Given the description of an element on the screen output the (x, y) to click on. 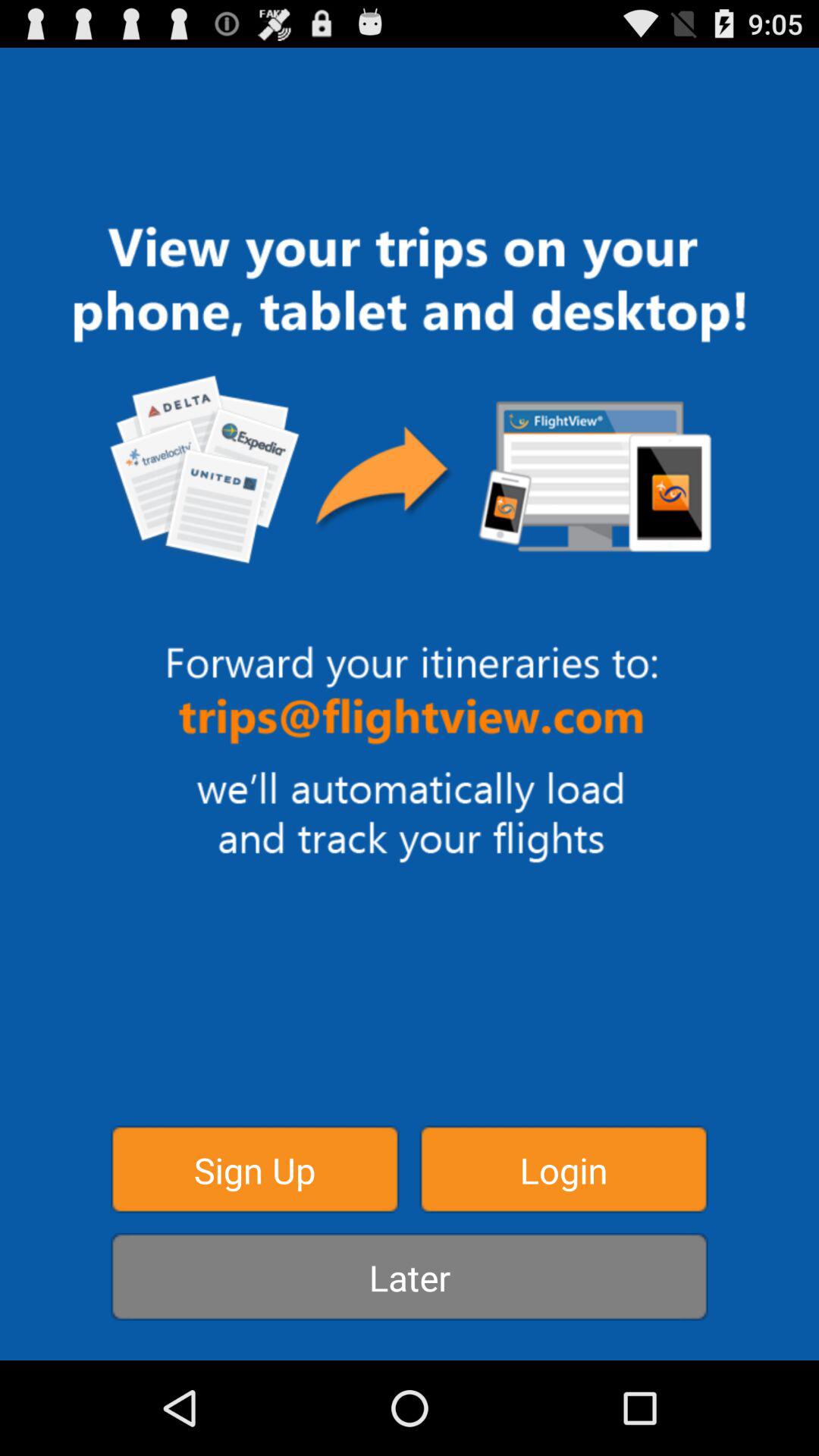
launch button to the left of login item (254, 1169)
